Given the description of an element on the screen output the (x, y) to click on. 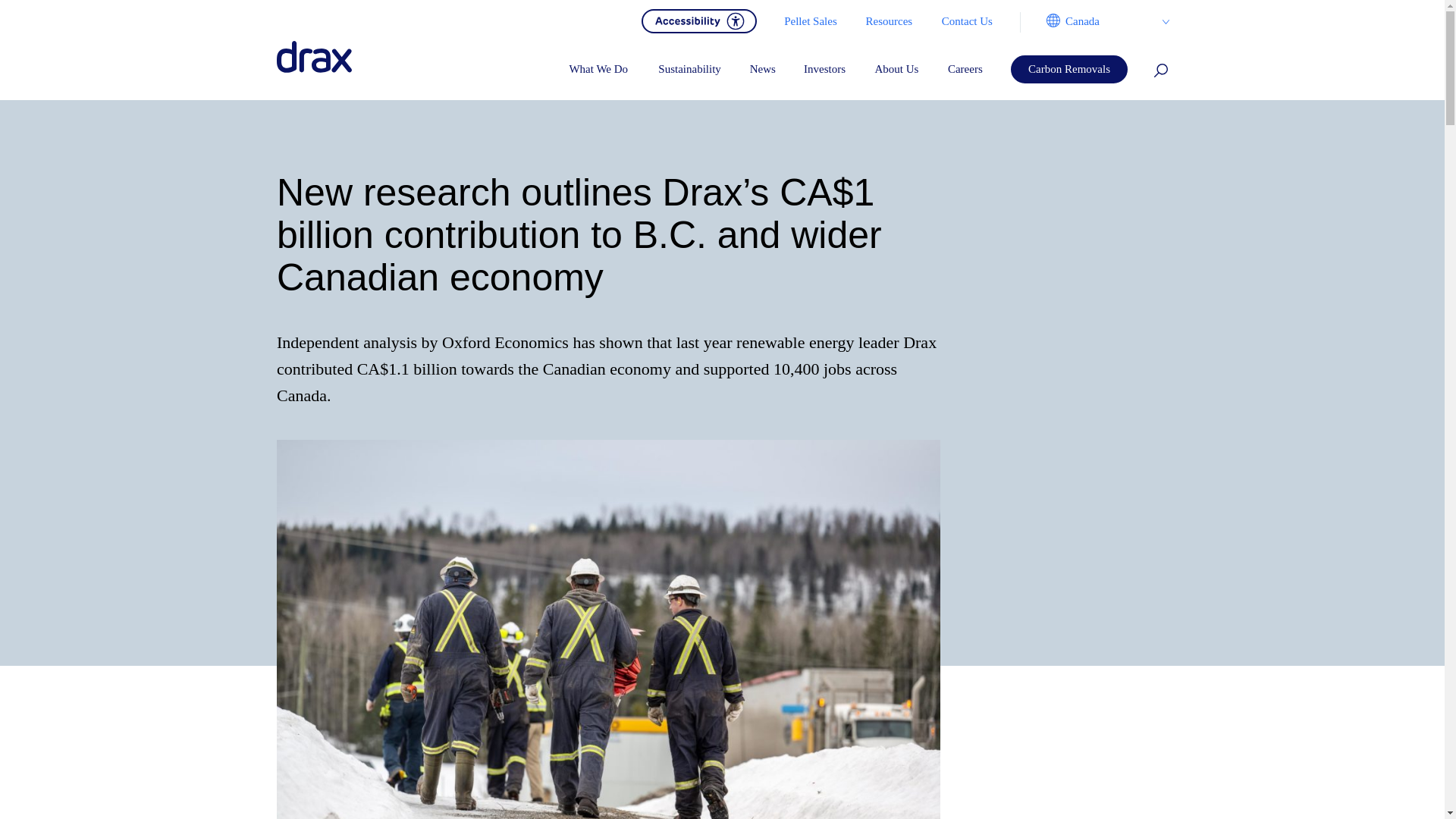
Contact Us (966, 20)
Resources (888, 20)
Canada (1093, 20)
Pellet Sales (810, 20)
Accessibility Tools (699, 19)
